Given the description of an element on the screen output the (x, y) to click on. 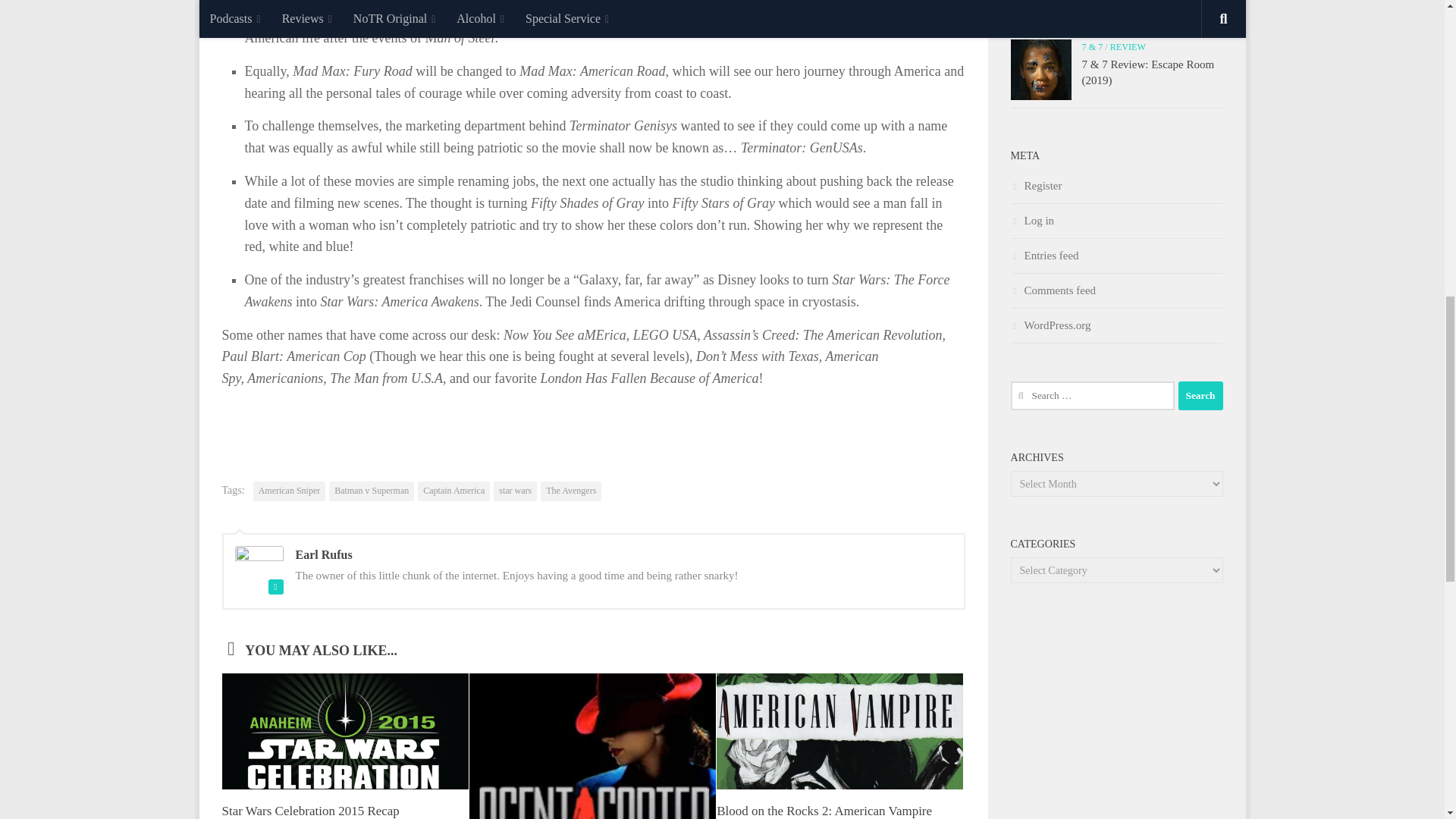
Search (1200, 395)
Search (1200, 395)
